Given the description of an element on the screen output the (x, y) to click on. 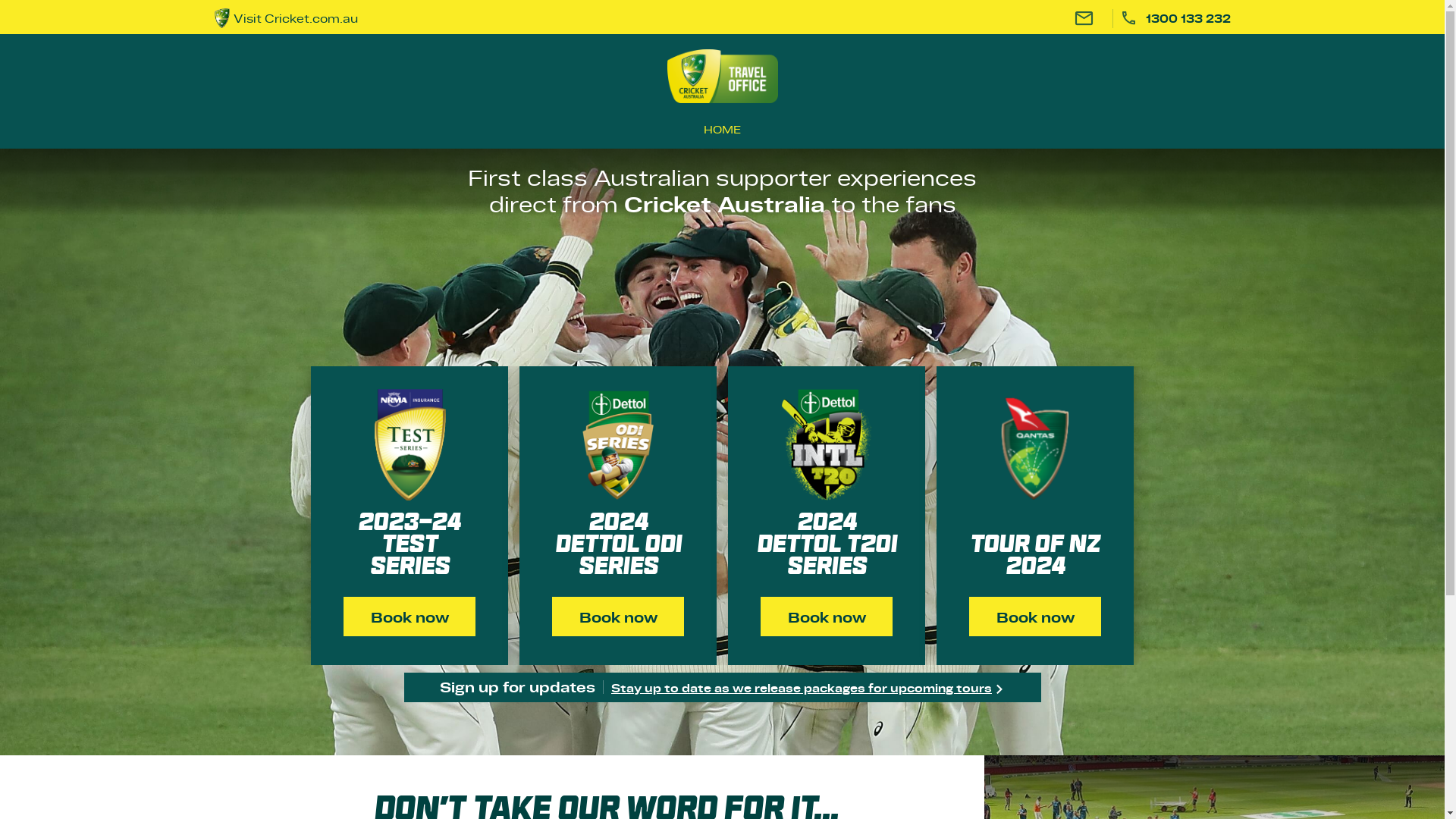
Book now Element type: text (1035, 616)
HOME Element type: text (722, 128)
Email Element type: text (1084, 18)
Book now Element type: text (826, 616)
Stay up to date as we release packages for upcoming tours Element type: text (807, 686)
Book now Element type: text (409, 616)
Visit Cricket.com.au Element type: text (382, 18)
1300 133 232 Element type: text (1174, 18)
Book now Element type: text (618, 616)
Cricket Ausralia Travel Office Element type: hover (722, 76)
